Given the description of an element on the screen output the (x, y) to click on. 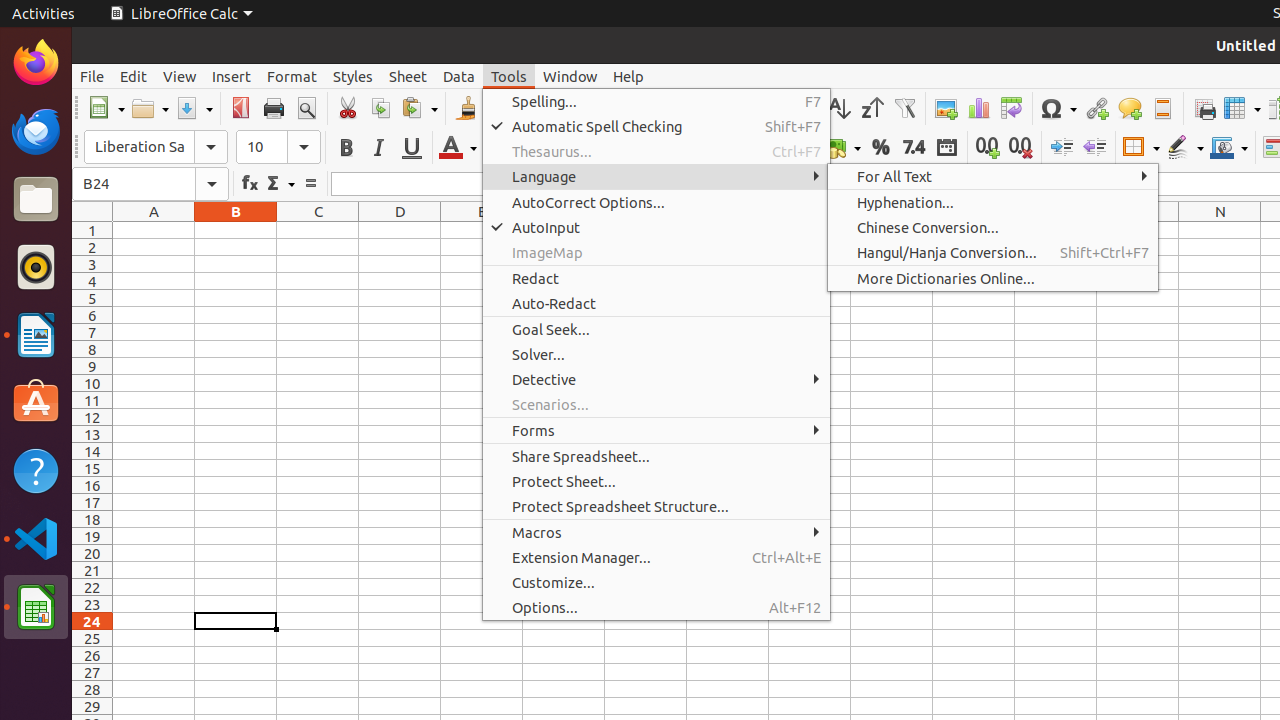
Name Box Element type: combo-box (150, 184)
Tools Element type: menu (509, 76)
F1 Element type: table-cell (564, 230)
Pivot Table Element type: push-button (1011, 108)
Format Element type: menu (292, 76)
